Given the description of an element on the screen output the (x, y) to click on. 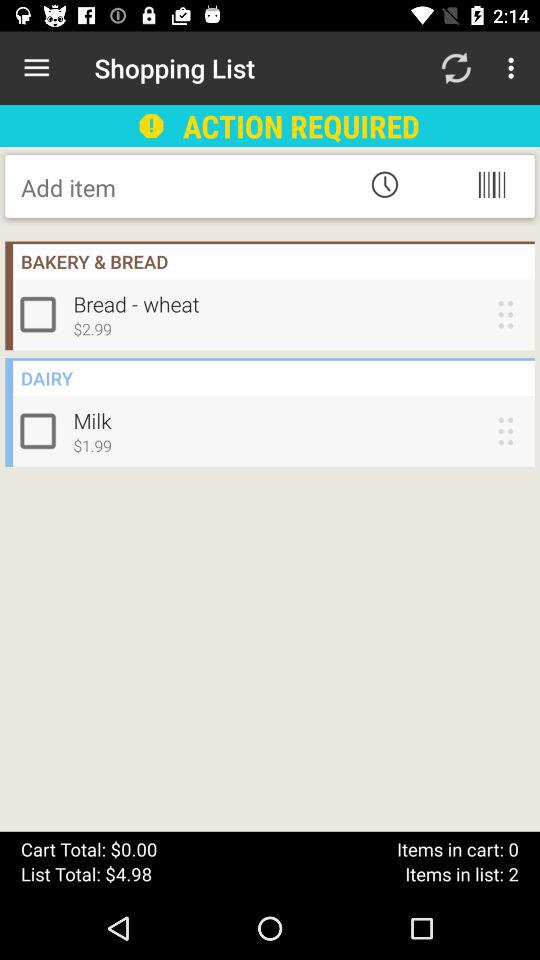
clock image (384, 184)
